Given the description of an element on the screen output the (x, y) to click on. 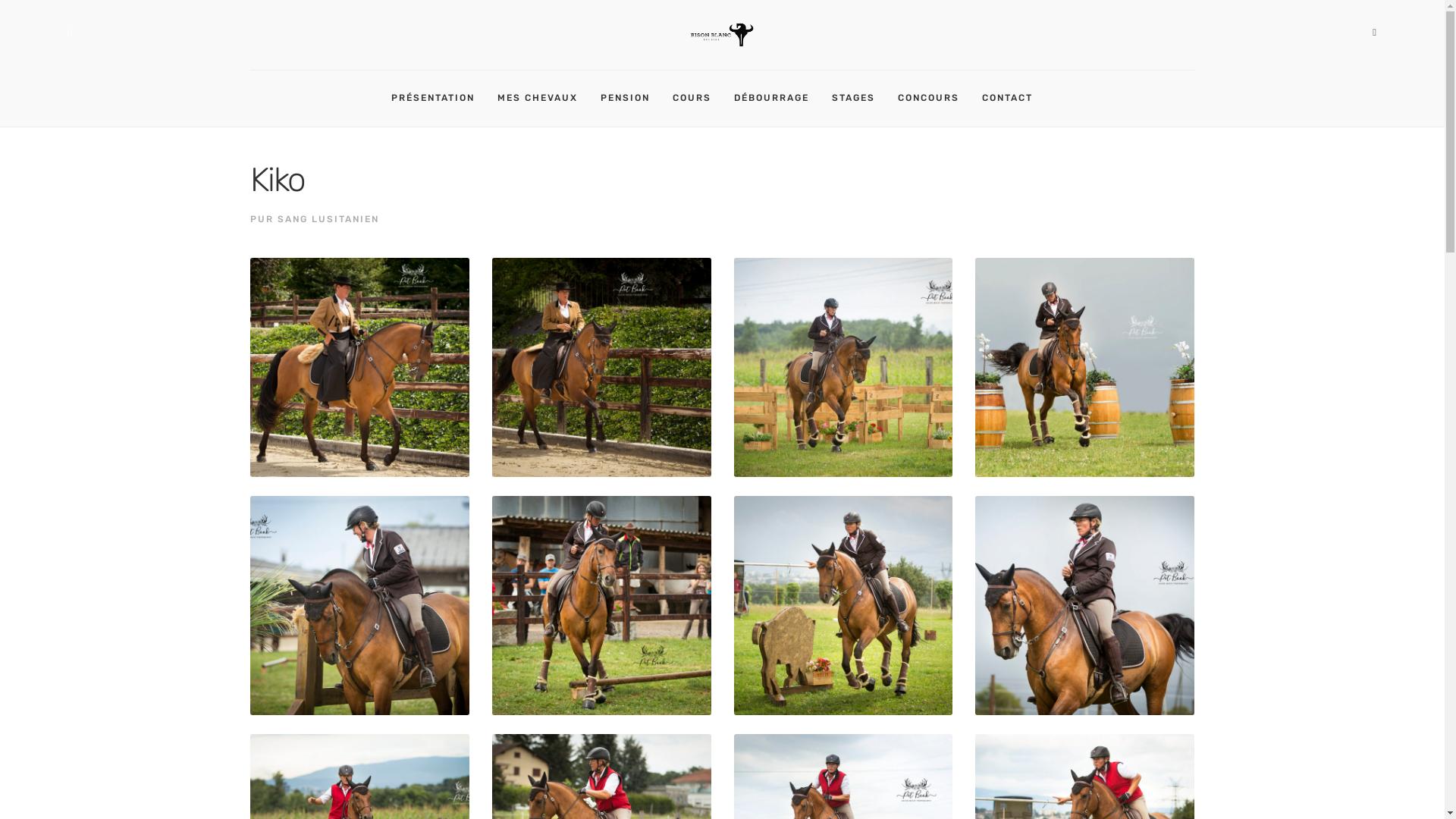
MES CHEVAUX Element type: text (543, 98)
CONTACT Element type: text (1013, 98)
CONCOURS Element type: text (934, 98)
COURS Element type: text (698, 98)
PENSION Element type: text (631, 98)
STAGES Element type: text (859, 98)
